Given the description of an element on the screen output the (x, y) to click on. 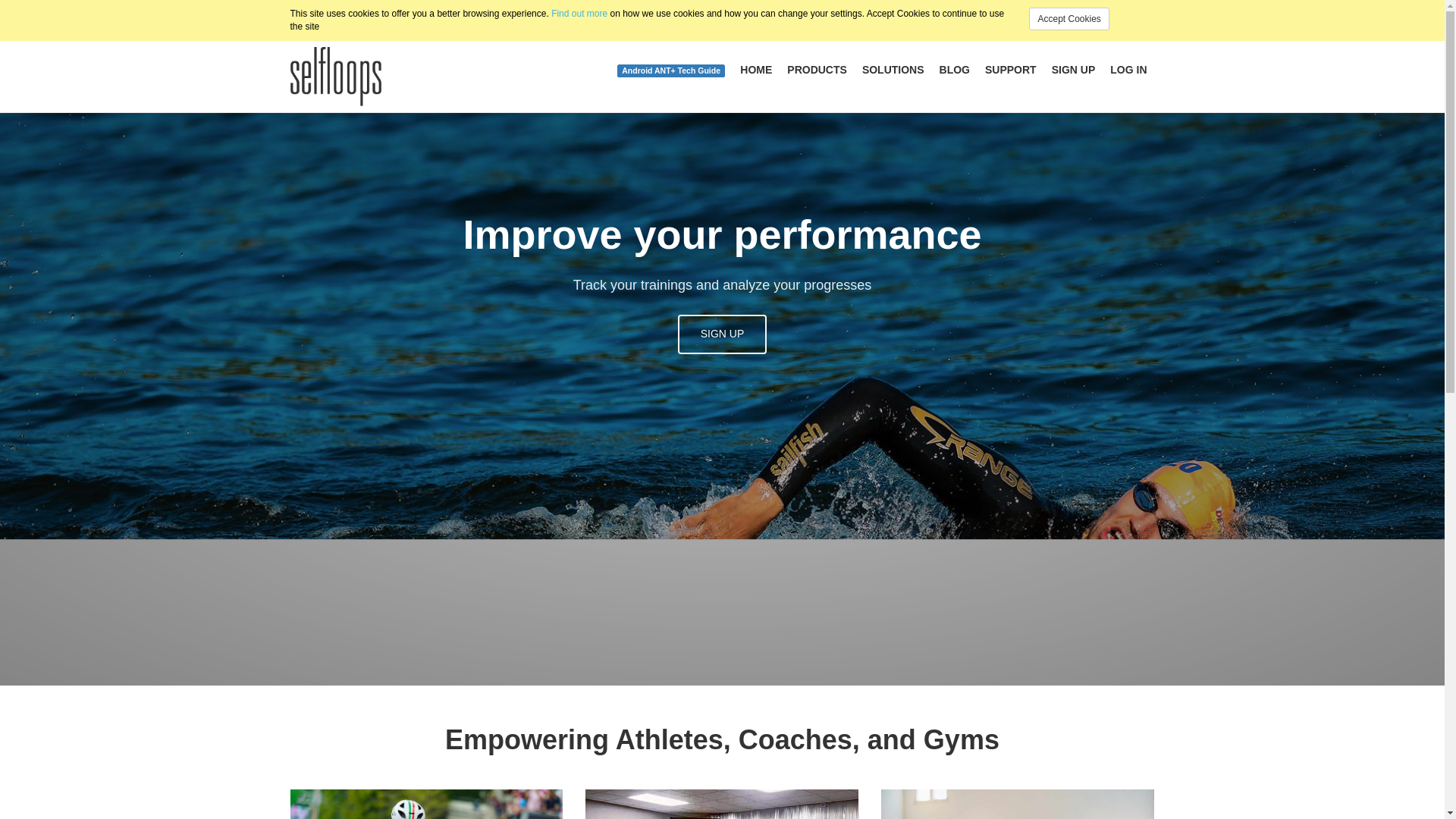
SOLUTIONS (892, 70)
SIGN UP (722, 333)
SUPPORT (1009, 70)
Find out more (579, 13)
PRODUCTS (816, 70)
SIGN UP (1073, 70)
Accept Cookies (1068, 18)
